Given the description of an element on the screen output the (x, y) to click on. 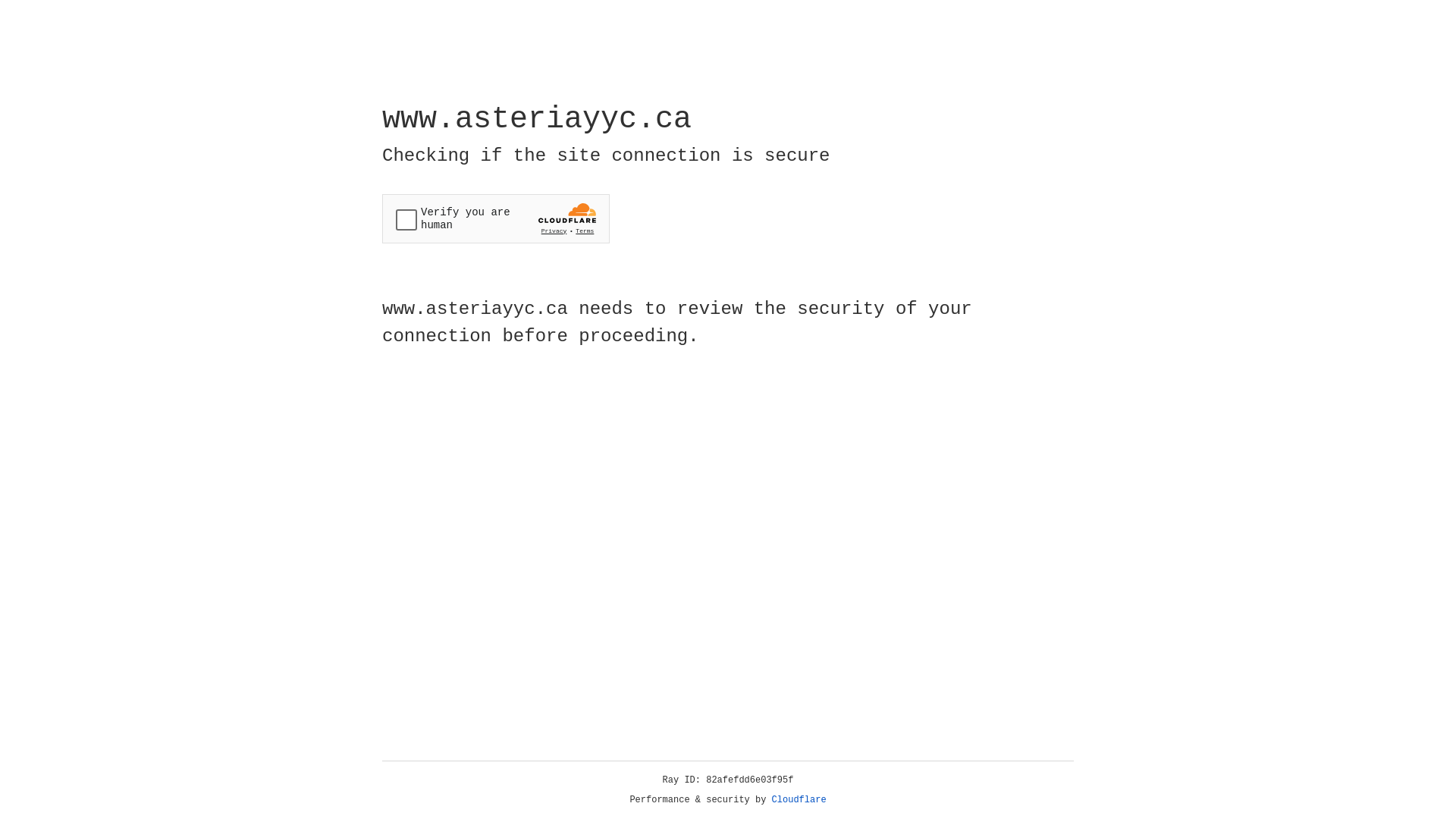
Widget containing a Cloudflare security challenge Element type: hover (495, 218)
Cloudflare Element type: text (798, 799)
